Given the description of an element on the screen output the (x, y) to click on. 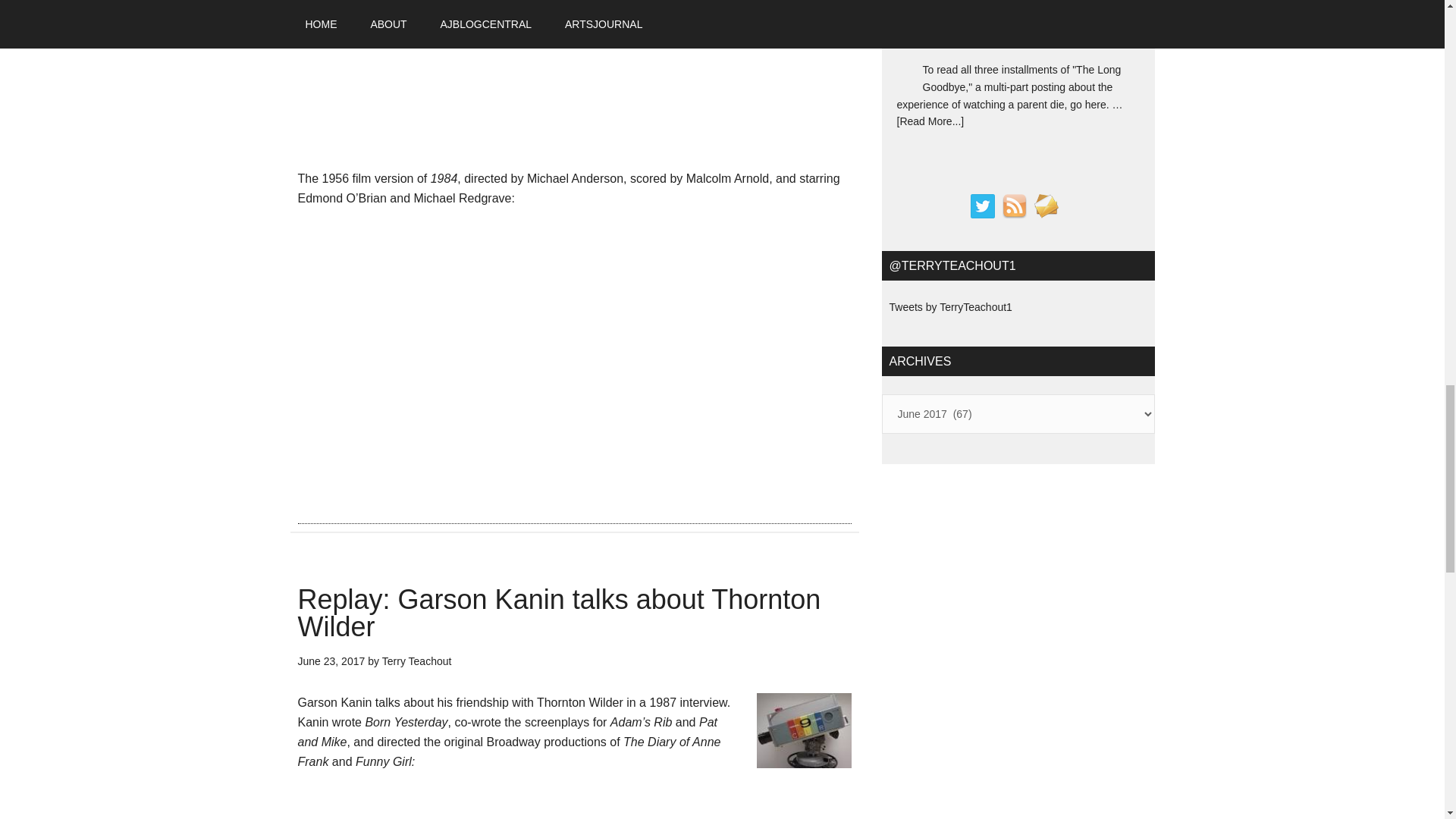
Follow Us on RSS (1014, 206)
The Long Goodbye (985, 27)
The Long Goodbye (985, 27)
Follow Us on Twitter (982, 206)
Replay: Garson Kanin talks about Thornton Wilder (559, 612)
Follow Us on E-mail (1045, 206)
Terry Teachout (416, 661)
